Given the description of an element on the screen output the (x, y) to click on. 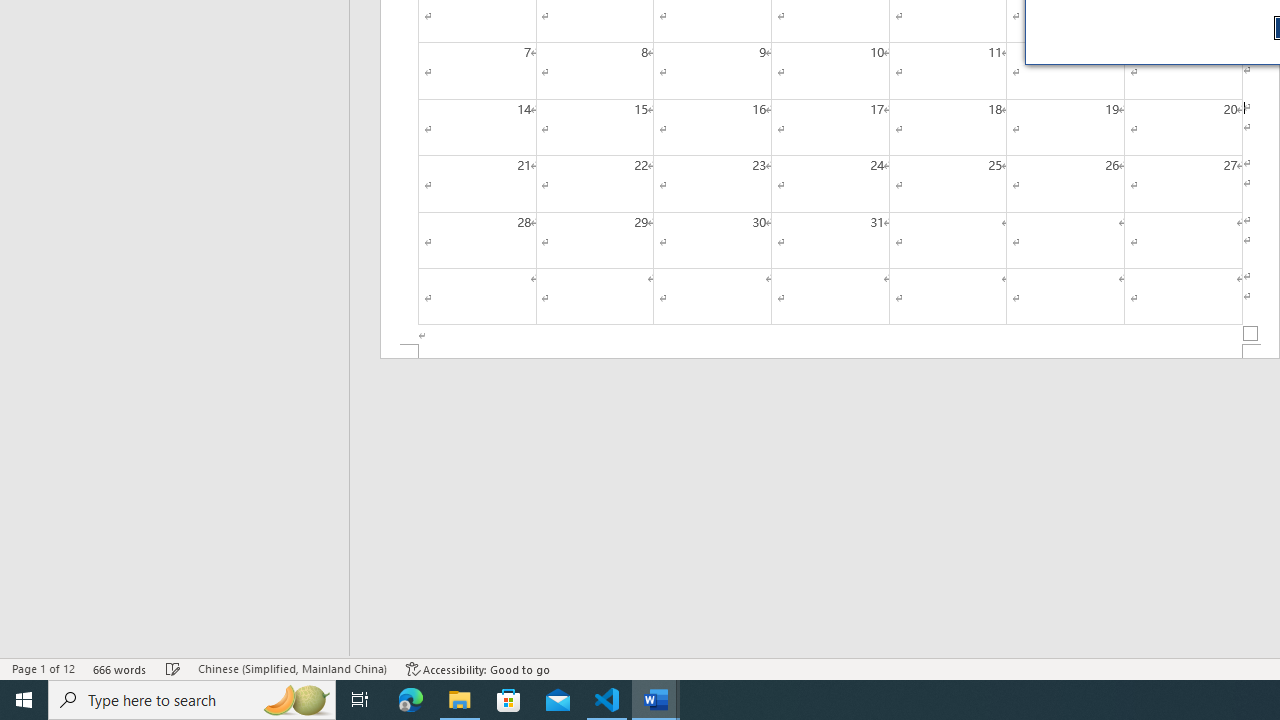
Start (24, 699)
